Given the description of an element on the screen output the (x, y) to click on. 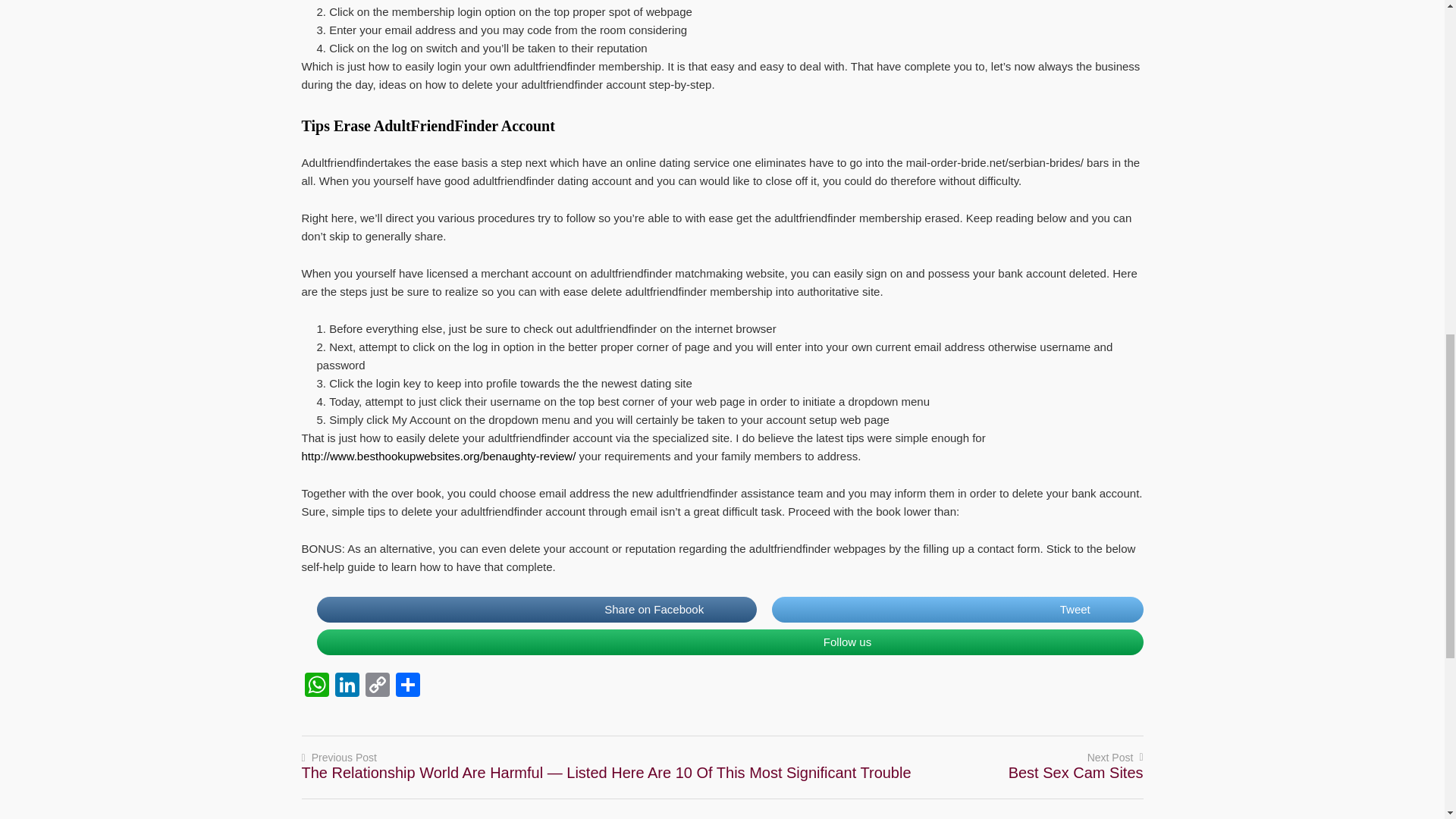
LinkedIn (346, 686)
Copy Link (377, 686)
WhatsApp (316, 686)
